Given the description of an element on the screen output the (x, y) to click on. 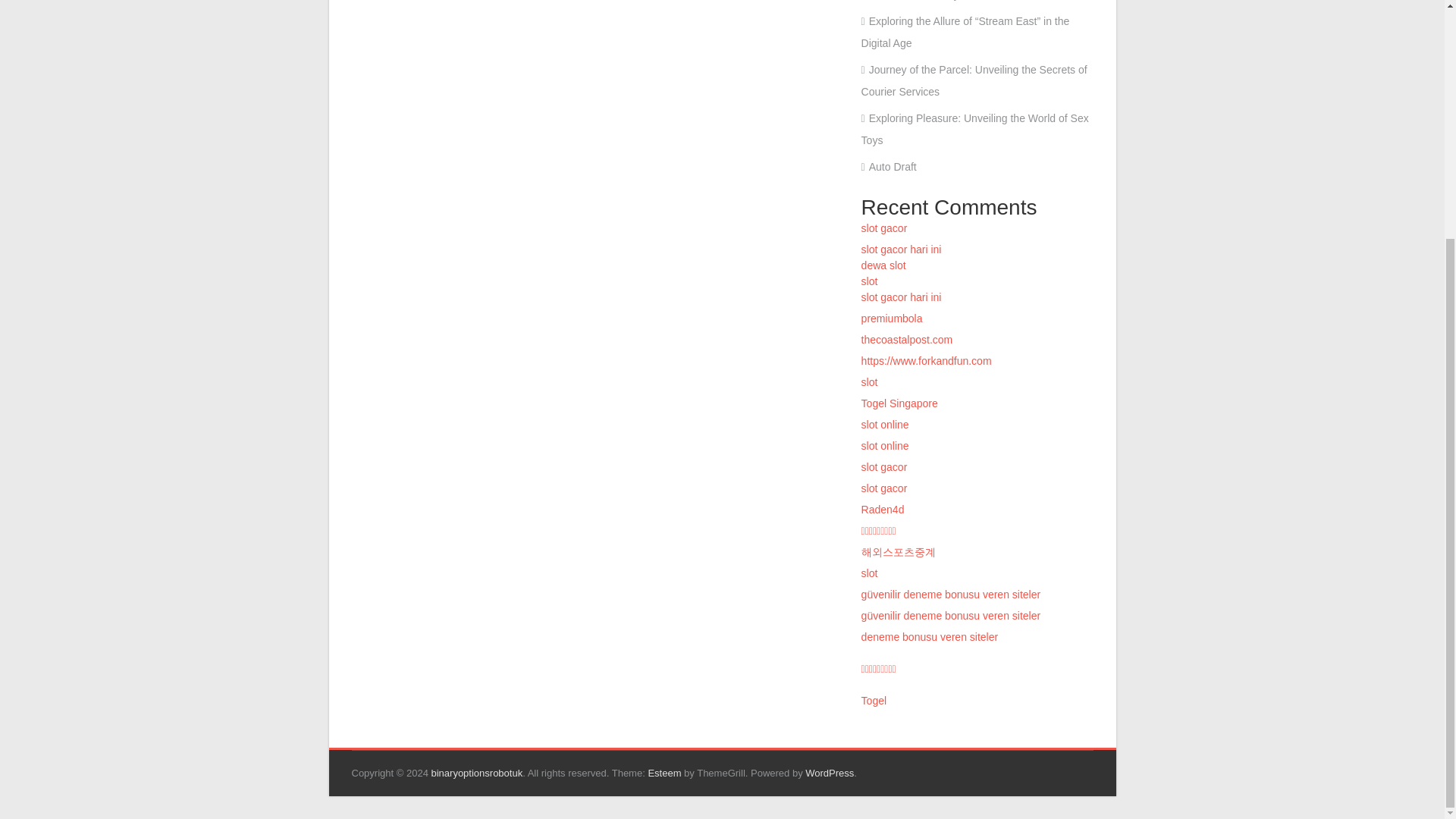
slot gacor (884, 488)
slot gacor (884, 227)
binaryoptionsrobotuk (476, 772)
premiumbola (892, 318)
WordPress (829, 772)
Auto Draft (889, 166)
slot online (884, 445)
dewa slot (883, 265)
Raden4d (882, 509)
slot gacor hari ini (901, 297)
Togel Singapore (899, 403)
slot gacor hari ini (901, 249)
slot (869, 573)
slot (869, 281)
